Given the description of an element on the screen output the (x, y) to click on. 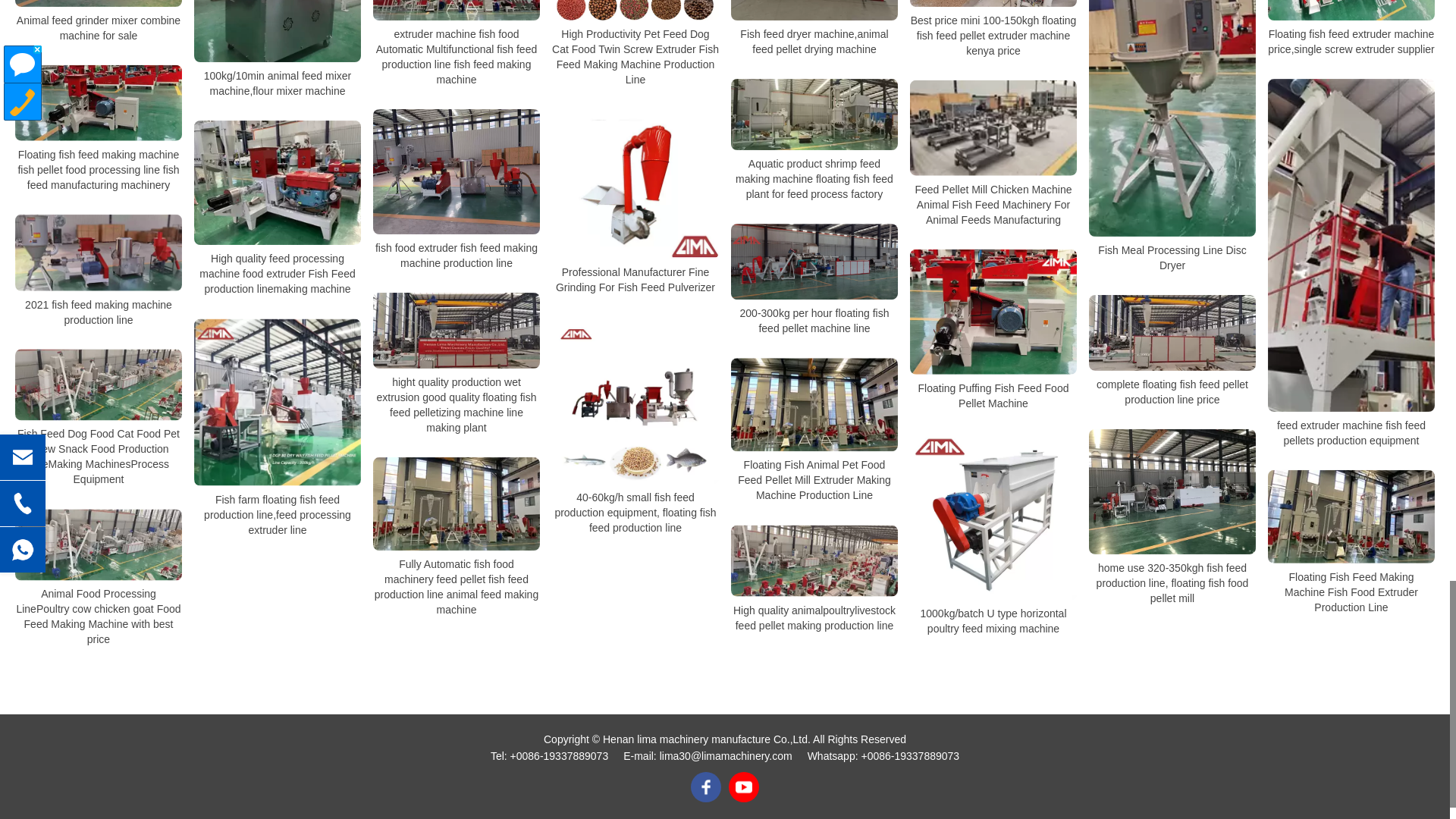
Animal feed grinder mixer combine machine for sale (98, 3)
Animal feed grinder mixer combine machine for sale (98, 28)
